Given the description of an element on the screen output the (x, y) to click on. 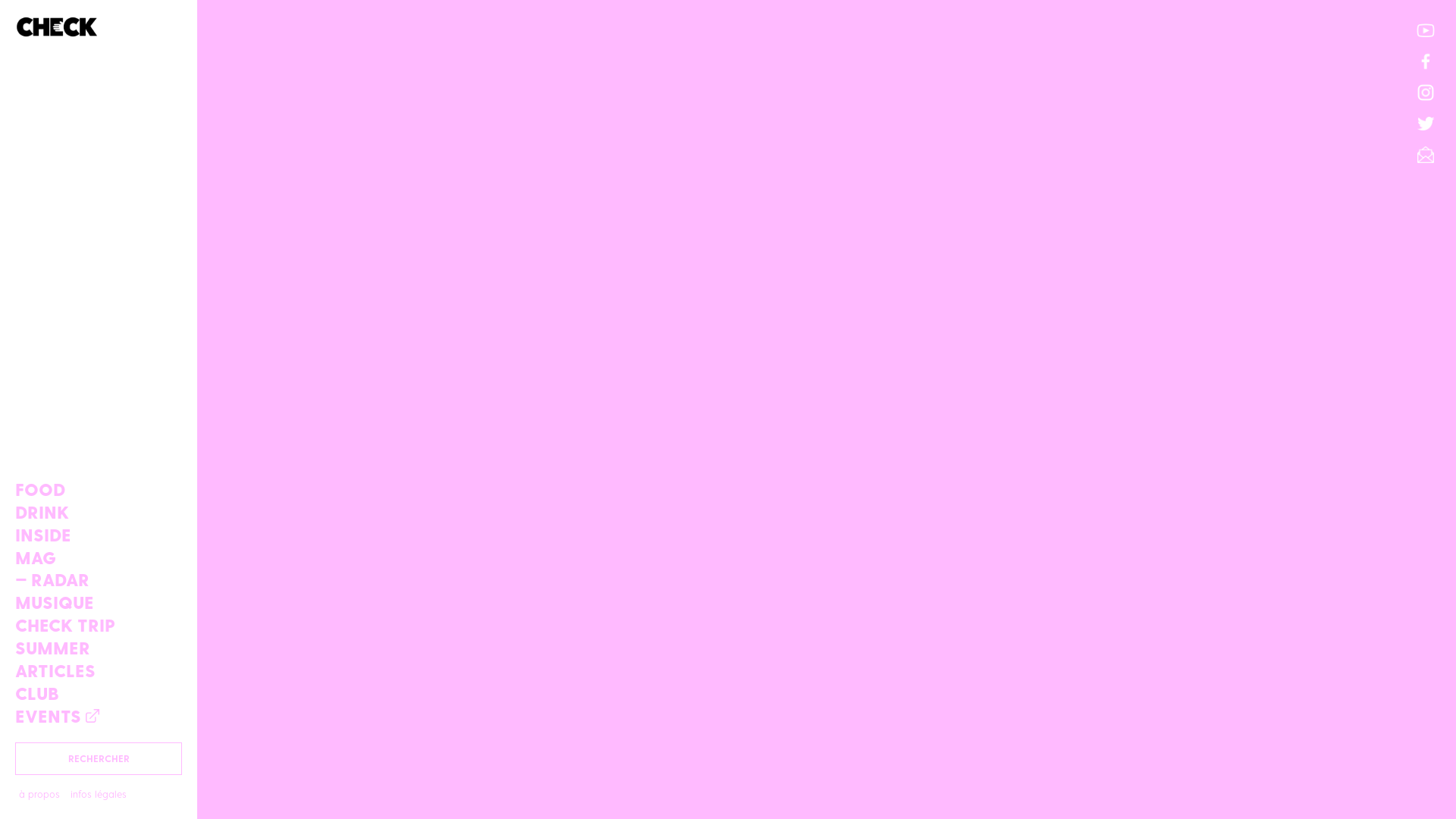
Instagram Element type: text (1425, 92)
YouTube Element type: text (1425, 30)
EVENTS Element type: text (98, 715)
SUMMER Element type: text (98, 647)
MUSIQUE Element type: text (98, 601)
MAG Element type: text (98, 557)
Facebook Element type: text (1425, 61)
INSIDE Element type: text (98, 534)
RADAR Element type: text (98, 578)
FOOD Element type: text (98, 488)
Newsletter Element type: text (1425, 154)
ARTICLES Element type: text (98, 669)
Twitter Element type: text (1425, 123)
CLUB Element type: text (98, 692)
Rechercher Element type: text (1342, 785)
DRINK Element type: text (98, 511)
Check Element type: hover (98, 34)
CHECK TRIP Element type: text (98, 624)
